Given the description of an element on the screen output the (x, y) to click on. 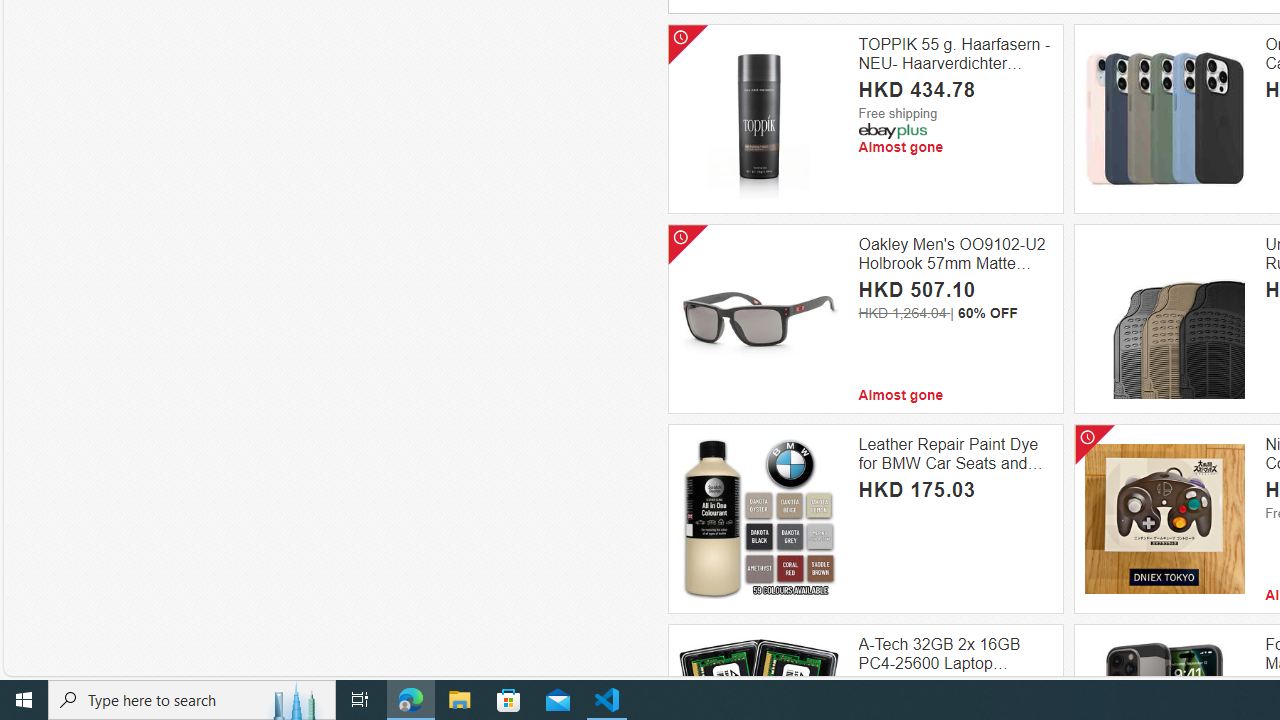
Oakley Men's OO9102-U2 Holbrook 57mm Matte Black Sunglasses (955, 254)
